Given the description of an element on the screen output the (x, y) to click on. 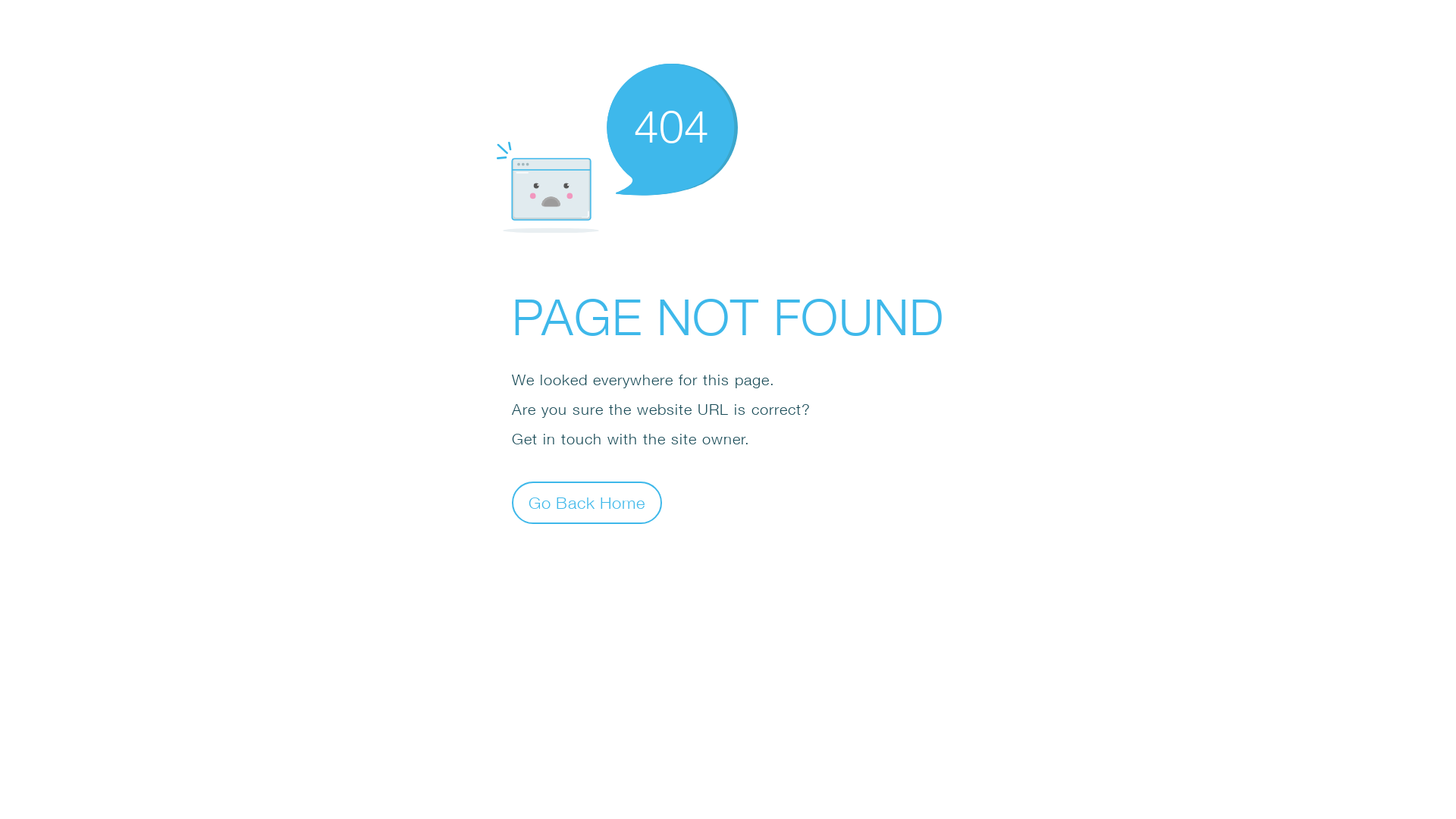
Go Back Home Element type: text (586, 502)
